Given the description of an element on the screen output the (x, y) to click on. 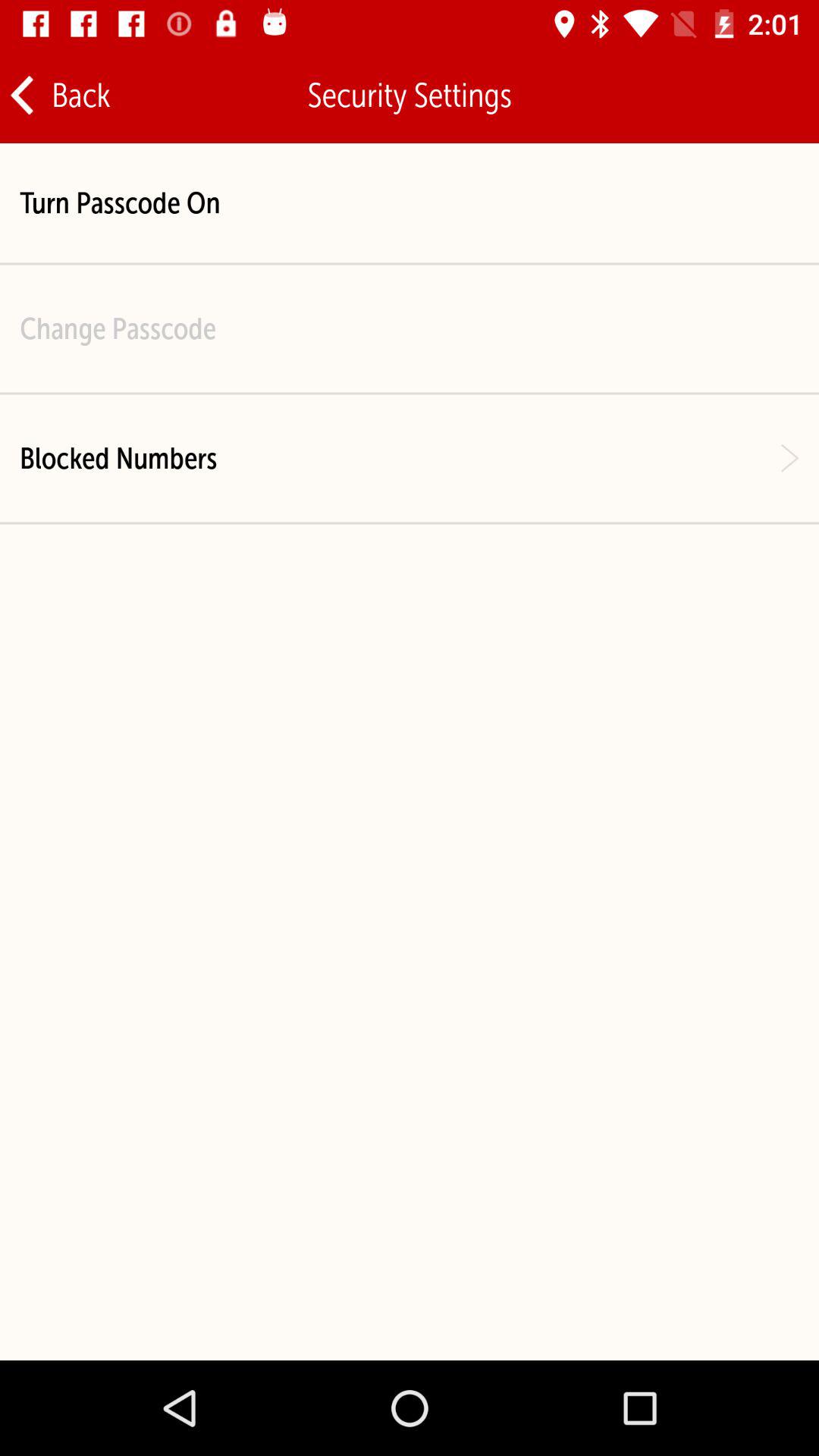
click turn passcode on (119, 202)
